Given the description of an element on the screen output the (x, y) to click on. 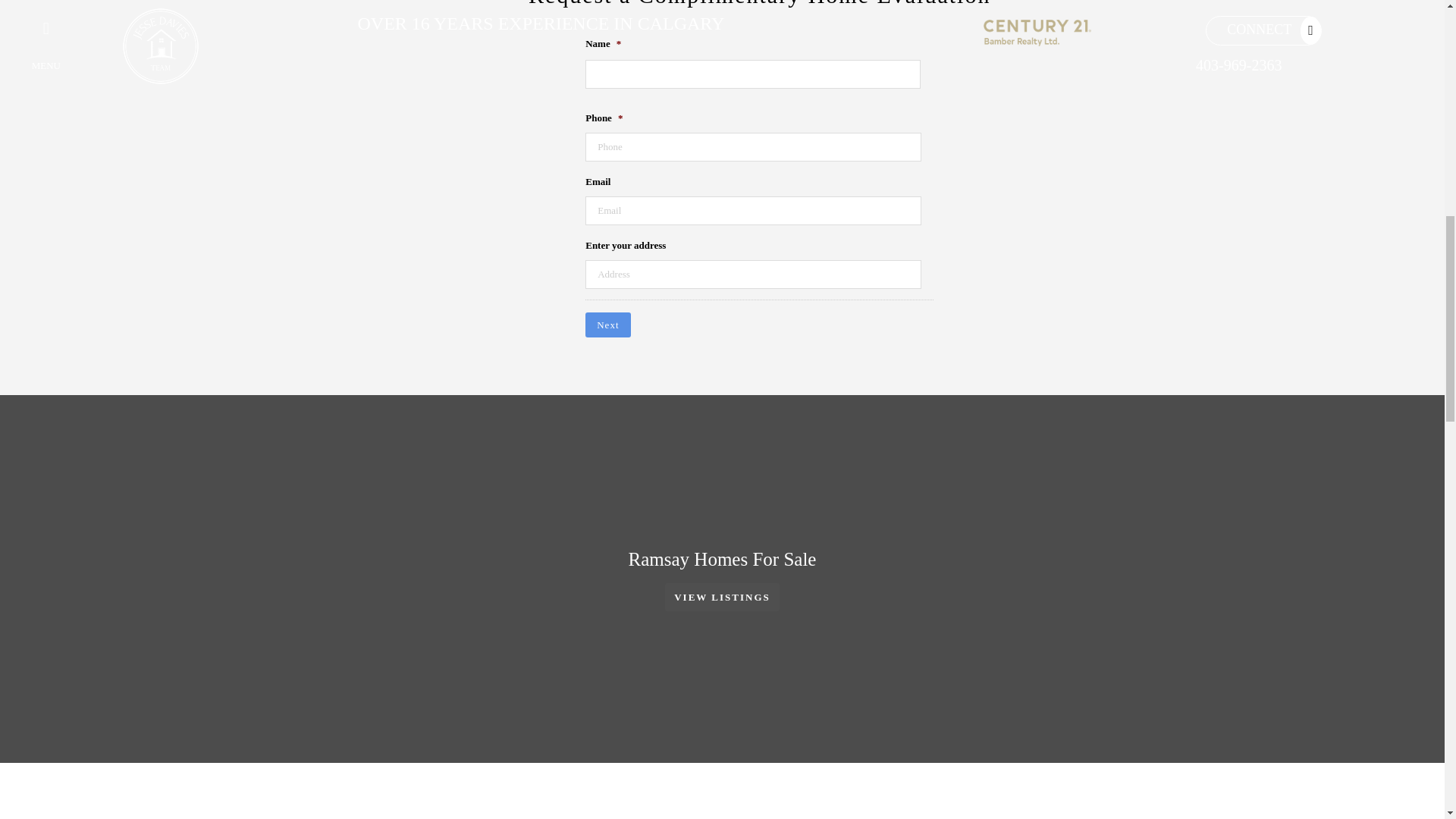
Next (607, 324)
